Given the description of an element on the screen output the (x, y) to click on. 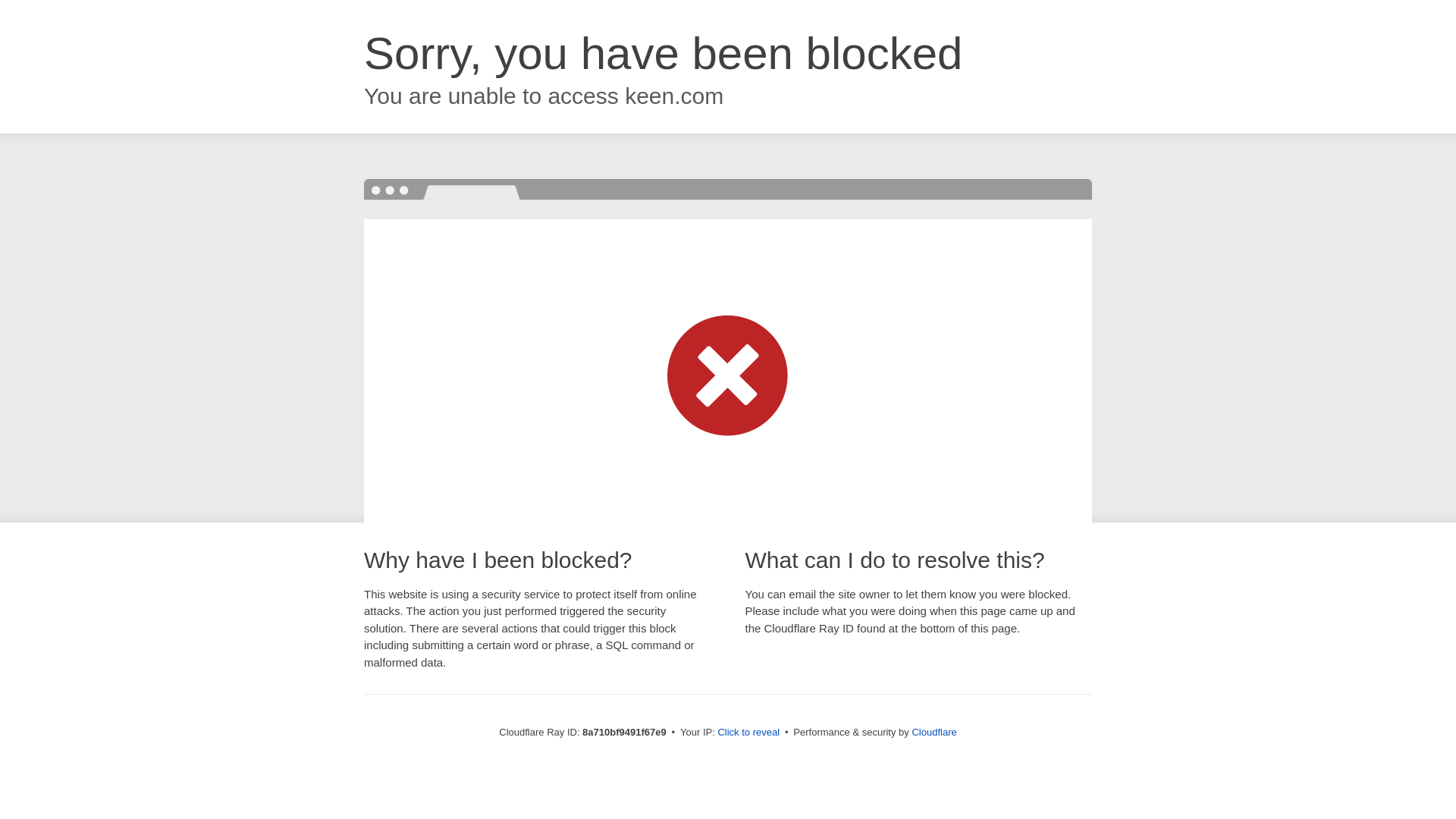
Cloudflare (933, 731)
Click to reveal (747, 732)
